Given the description of an element on the screen output the (x, y) to click on. 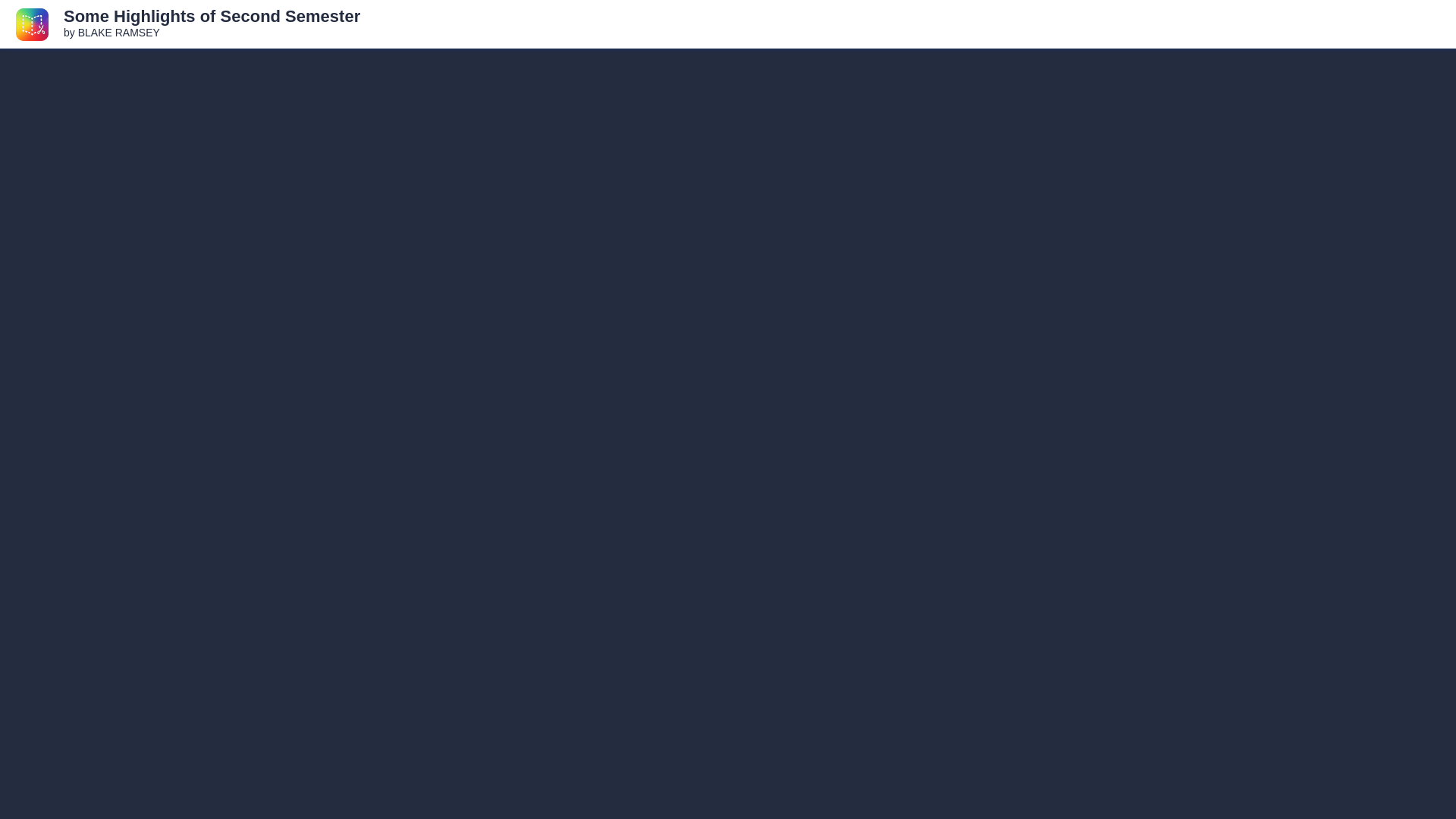
Settings (1386, 24)
Menu (1424, 24)
Book Creator (32, 23)
Go to Book Creator website (32, 23)
Pages (1341, 24)
